Given the description of an element on the screen output the (x, y) to click on. 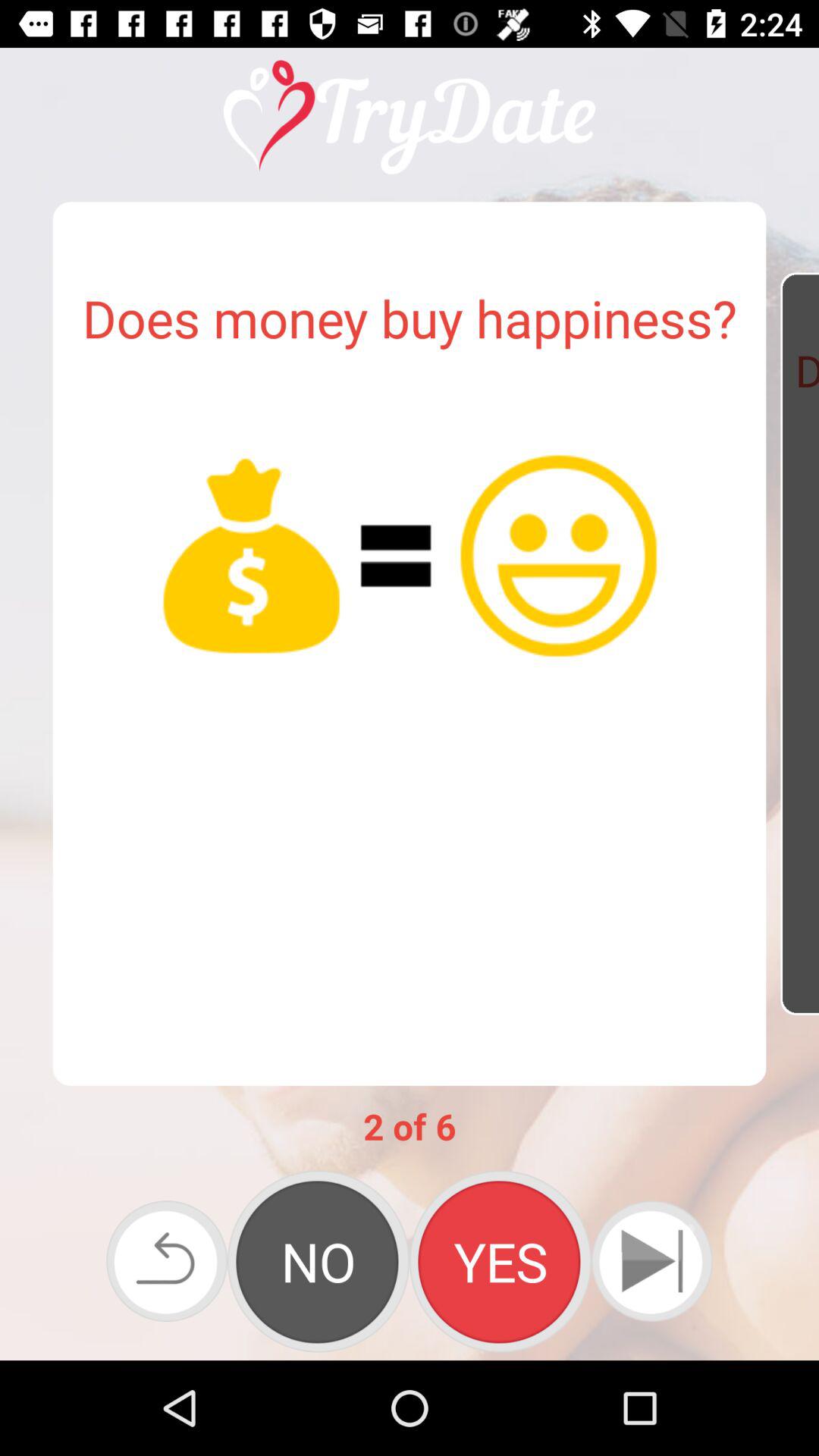
go forward (651, 1260)
